Given the description of an element on the screen output the (x, y) to click on. 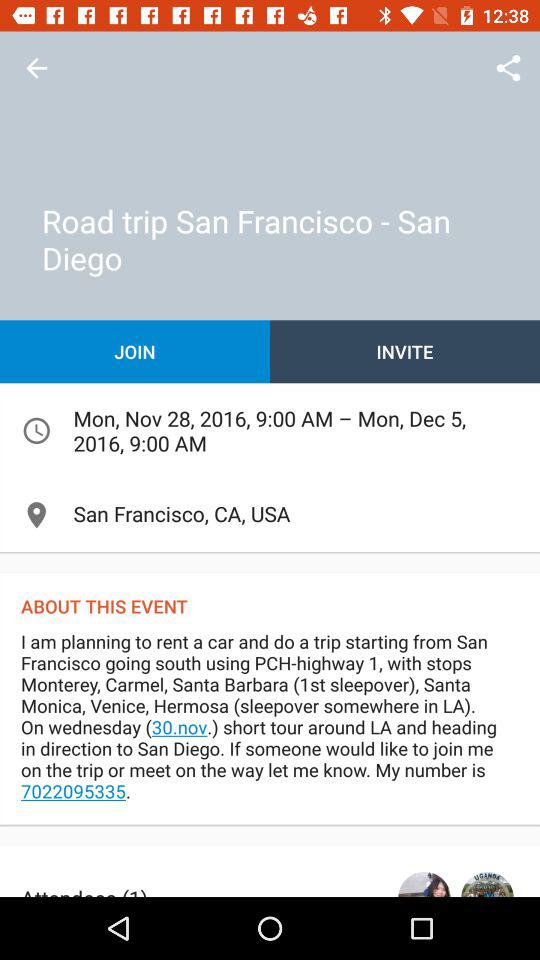
select the icon below about this event (270, 726)
